Given the description of an element on the screen output the (x, y) to click on. 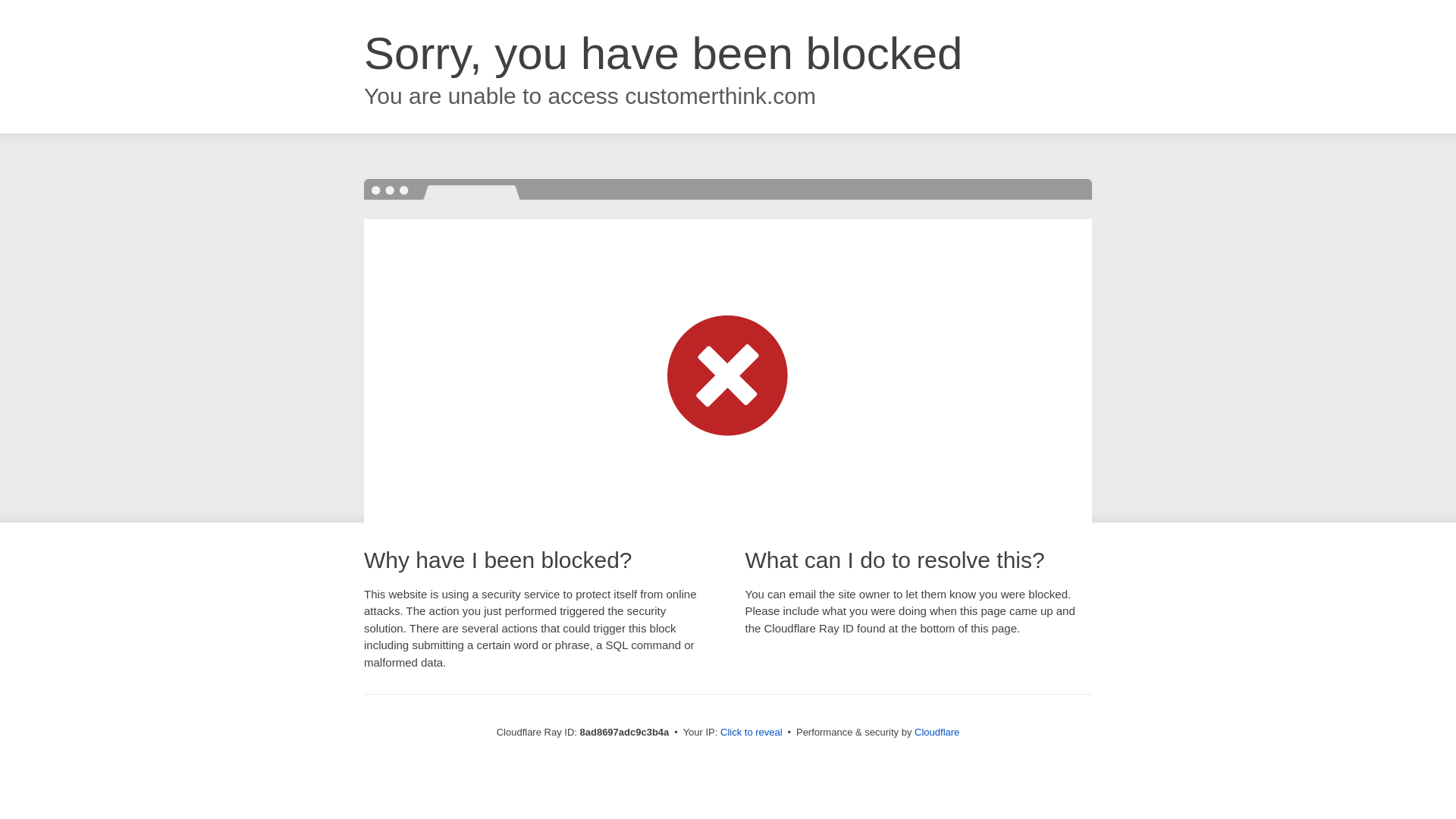
Cloudflare (936, 731)
Click to reveal (751, 732)
